Given the description of an element on the screen output the (x, y) to click on. 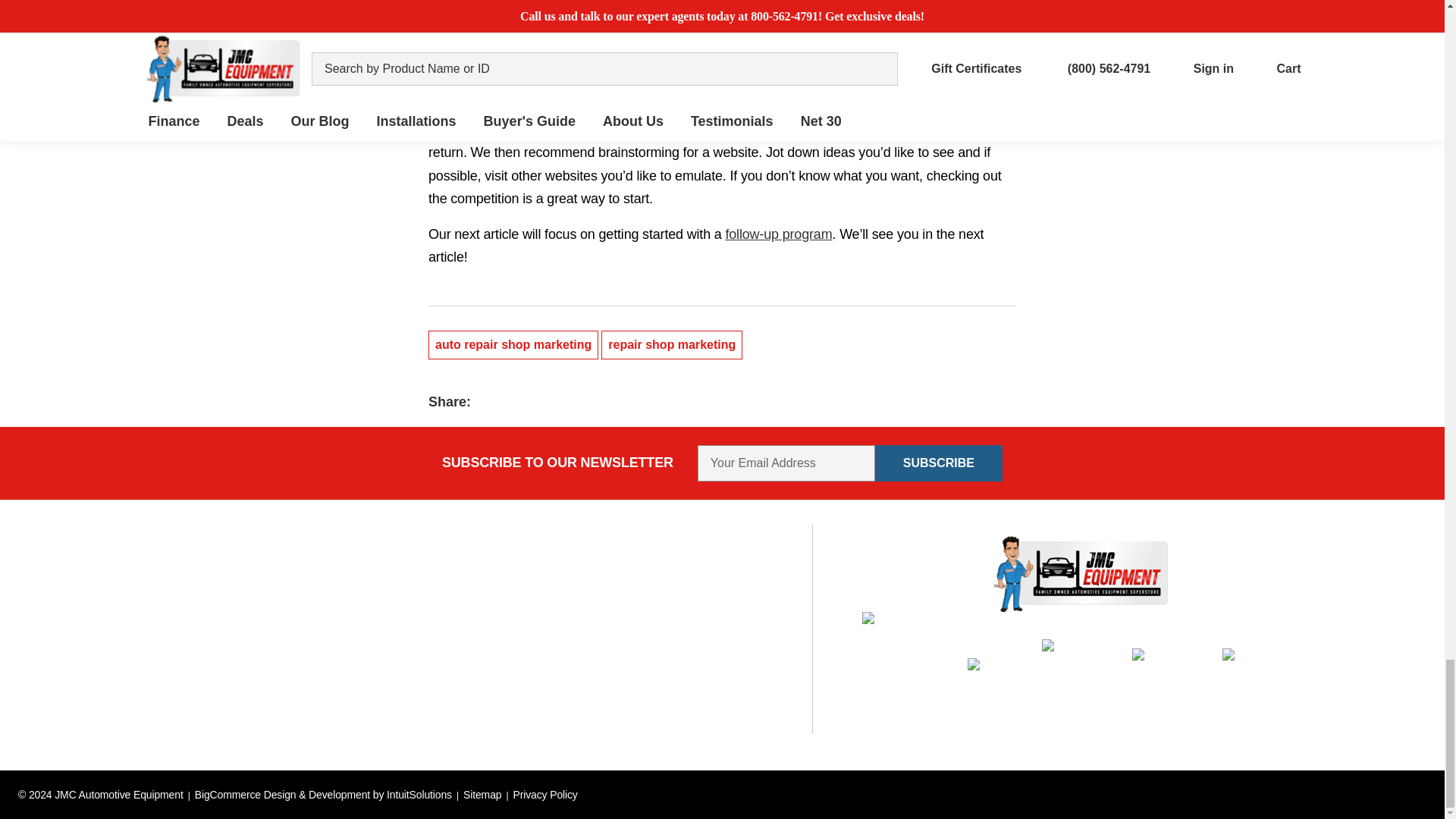
Subscribe (939, 463)
JMC Automotive Equipment  (1080, 573)
